Given the description of an element on the screen output the (x, y) to click on. 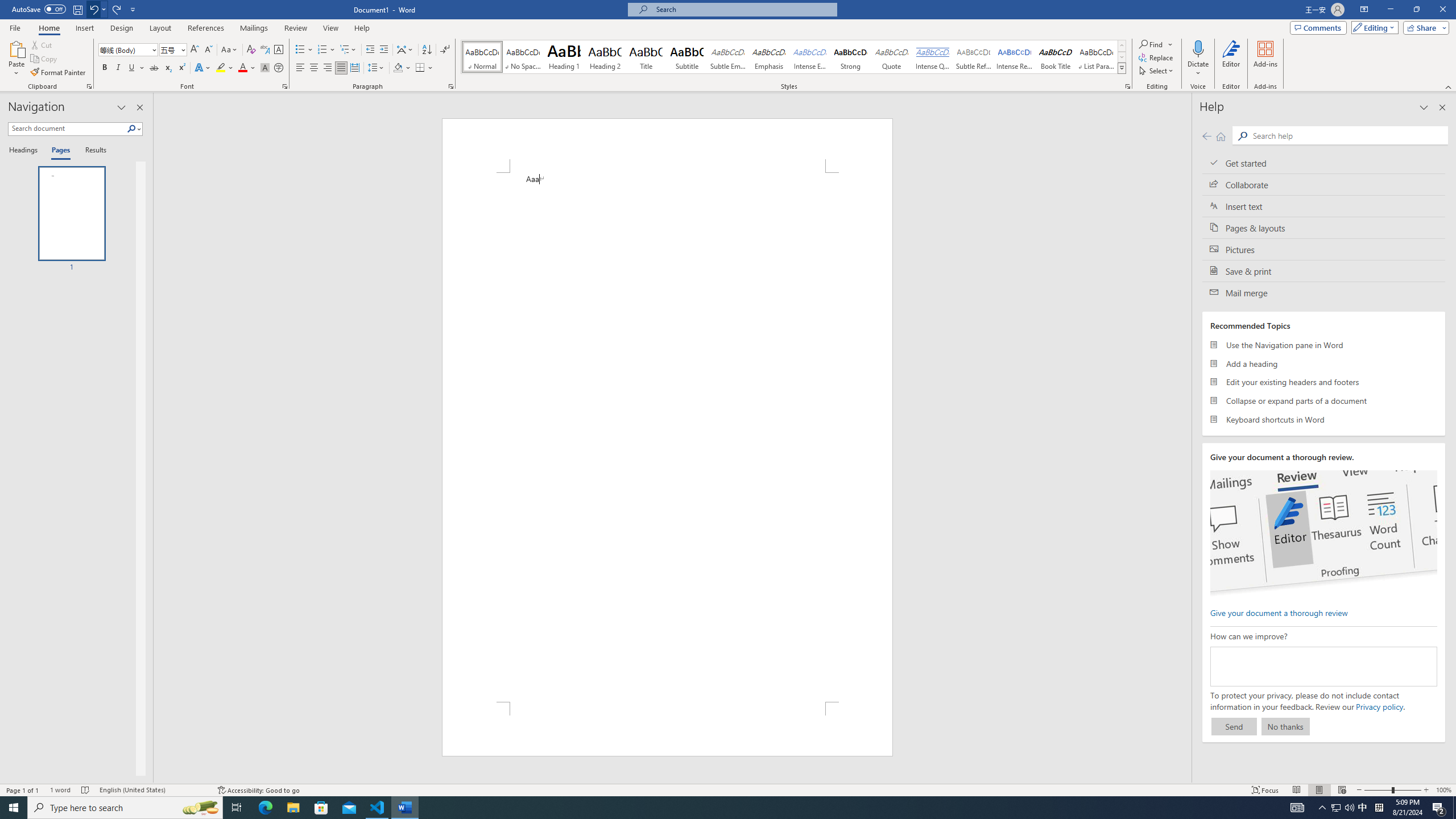
Page 1 content (667, 436)
Grow Font (193, 49)
Clear Formatting (250, 49)
Decrease Indent (370, 49)
Get started (1323, 162)
Center (313, 67)
Distributed (354, 67)
Phonetic Guide... (264, 49)
Enclose Characters... (278, 67)
Give your document a thorough review (1278, 611)
